Given the description of an element on the screen output the (x, y) to click on. 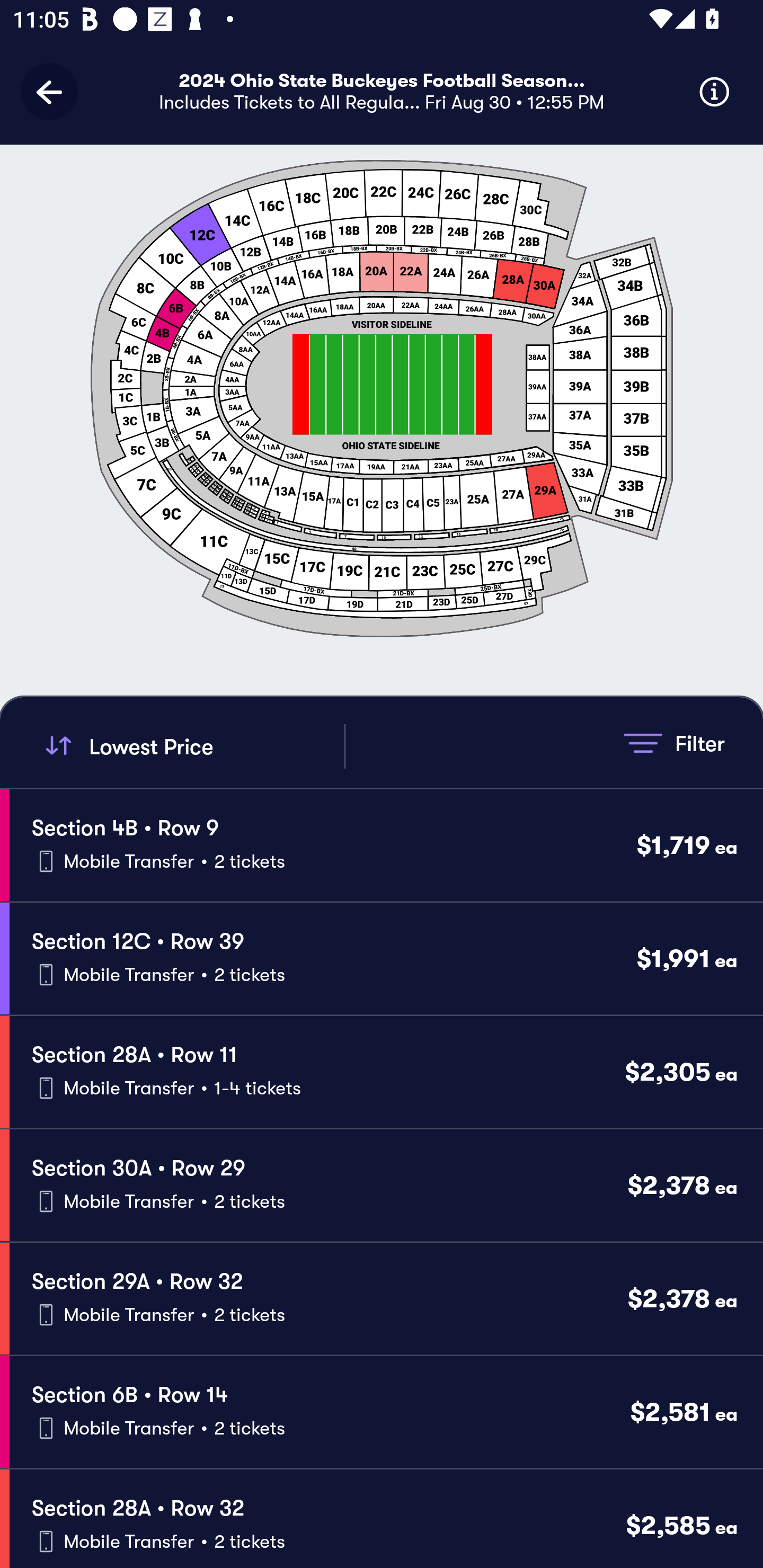
Lowest Price (191, 746)
Filter (674, 743)
